Given the description of an element on the screen output the (x, y) to click on. 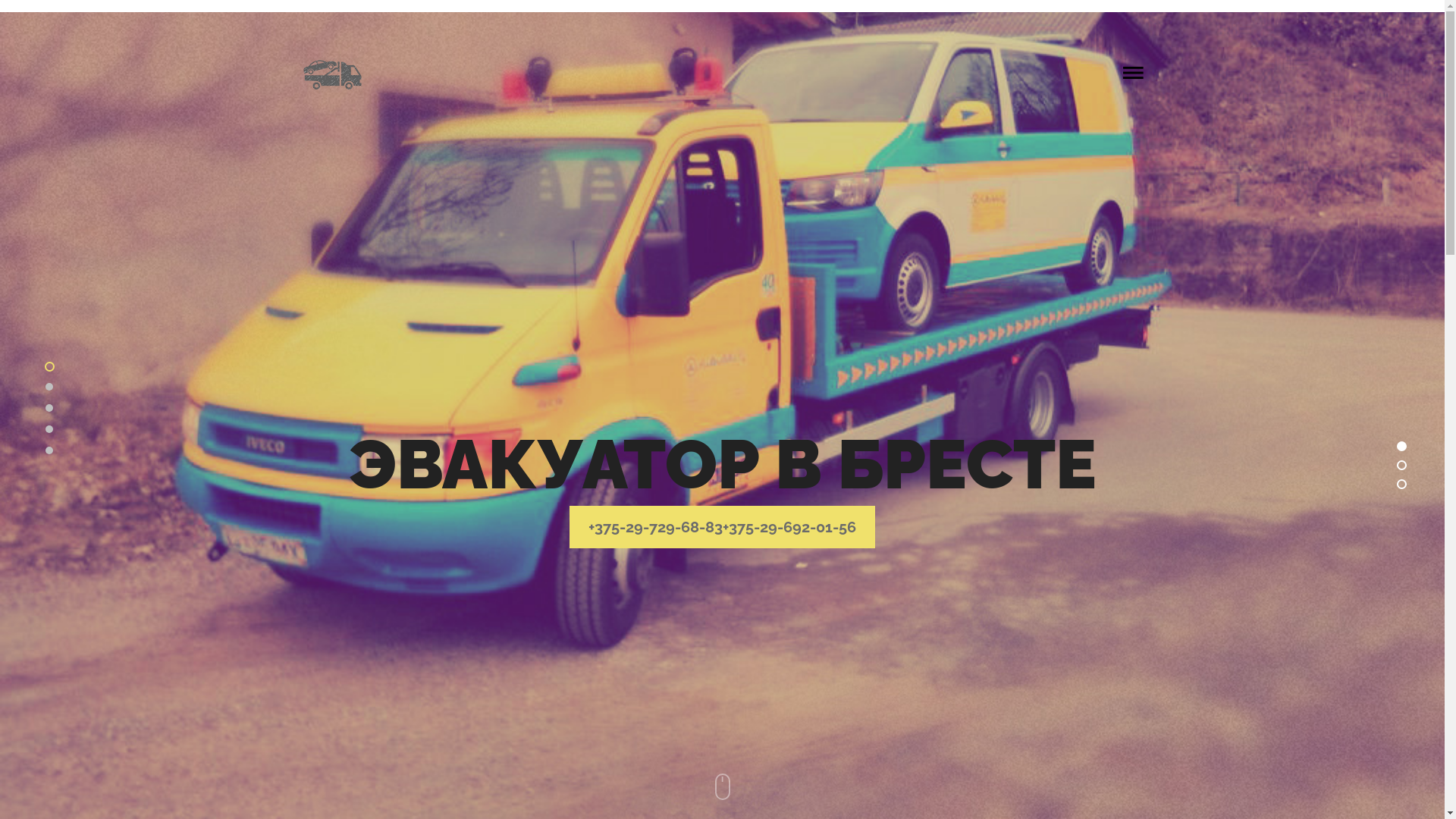
+375-29-729-68-83 Element type: text (655, 526)
I Element type: text (722, 783)
+375-29-692-01-56 Element type: text (789, 526)
